Given the description of an element on the screen output the (x, y) to click on. 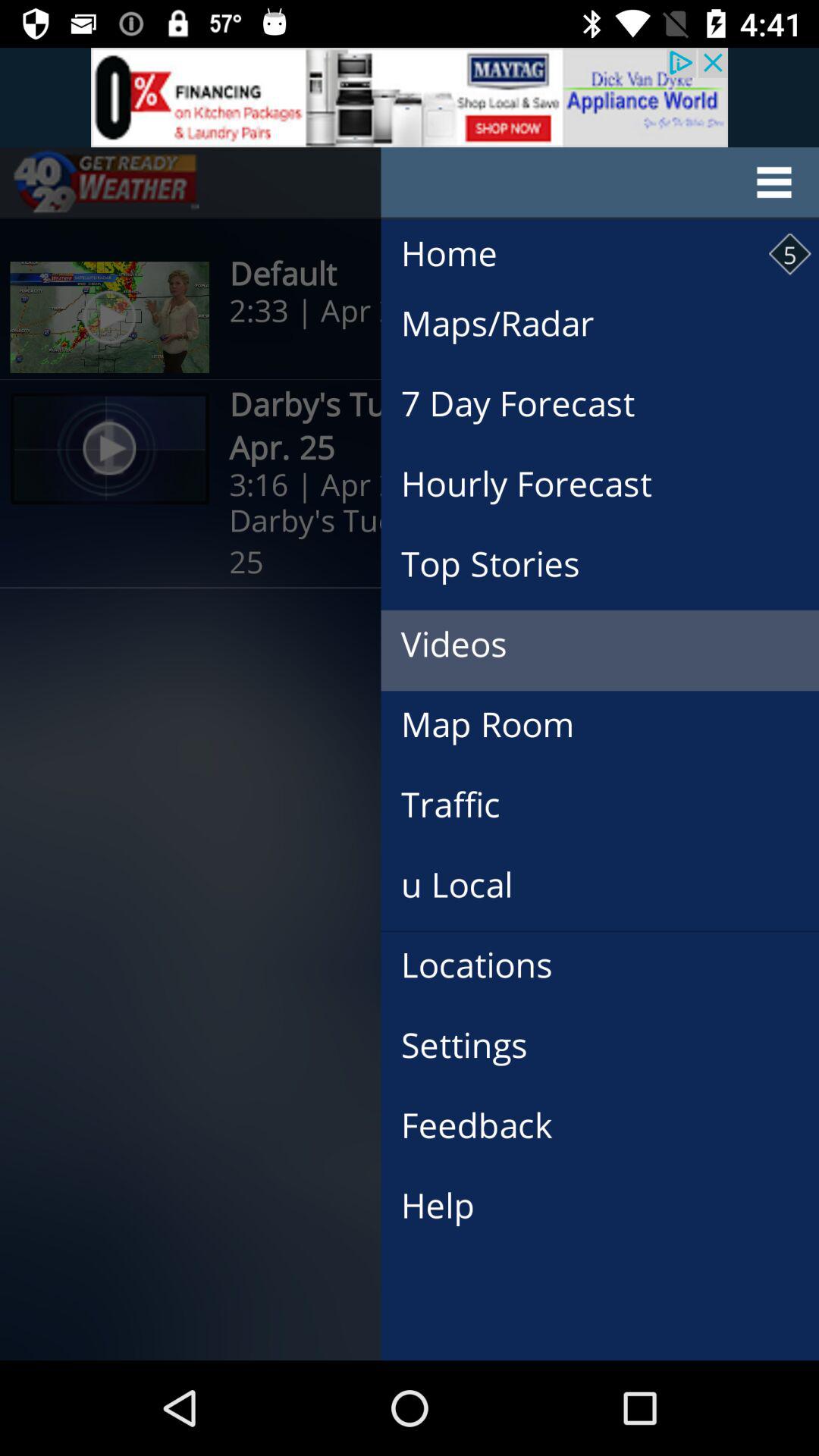
select the play button in the second video (109, 448)
